Given the description of an element on the screen output the (x, y) to click on. 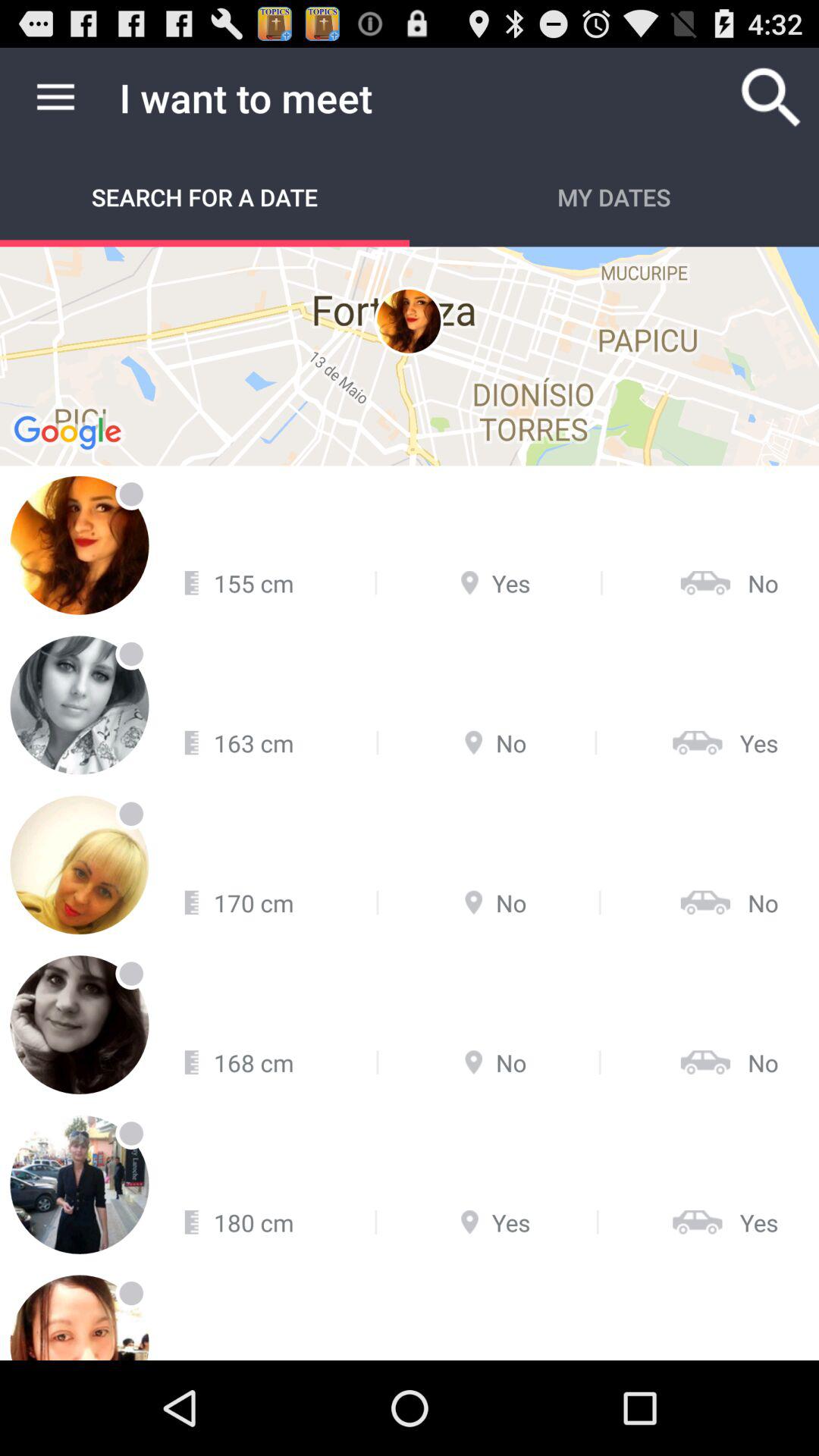
choose the icon to the left of the i want to icon (55, 97)
